Given the description of an element on the screen output the (x, y) to click on. 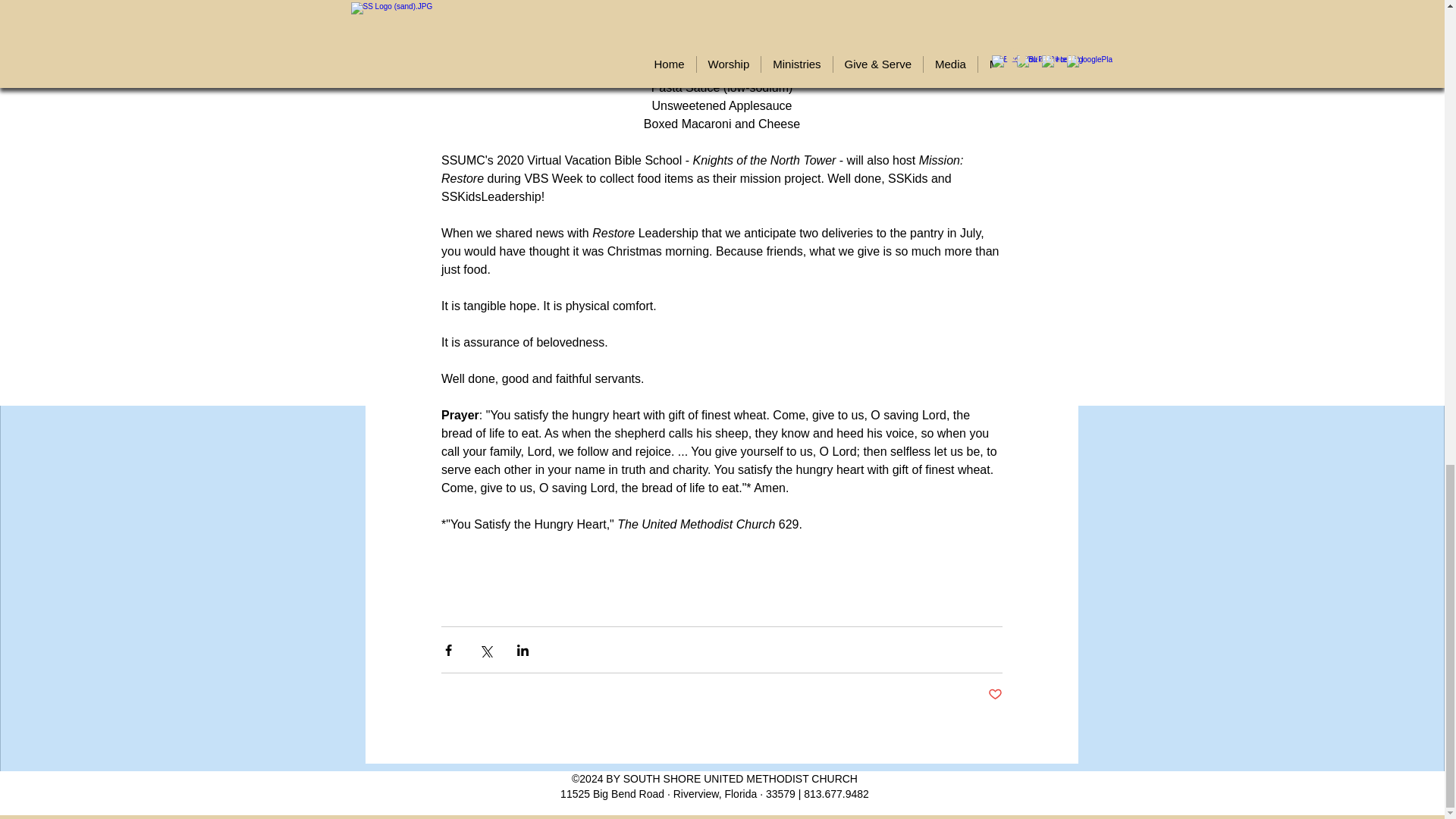
Post not marked as liked (994, 694)
